Given the description of an element on the screen output the (x, y) to click on. 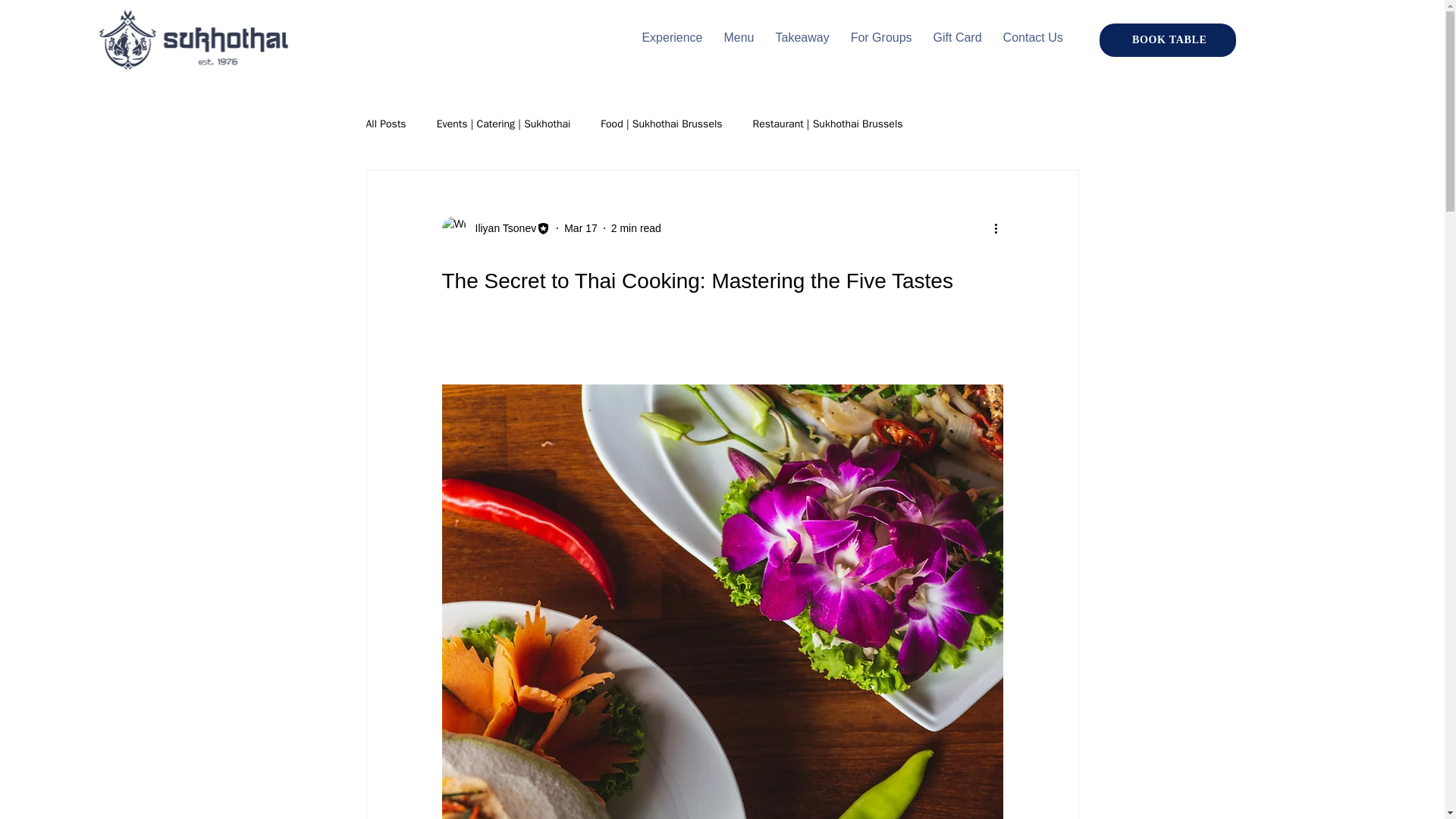
Iliyan Tsonev (495, 228)
Experience (671, 37)
Takeaway (801, 37)
BOOK TABLE (1167, 39)
All Posts (385, 124)
Gift Card (958, 37)
2 min read (636, 227)
For Groups (881, 37)
Contact Us (1032, 37)
